Given the description of an element on the screen output the (x, y) to click on. 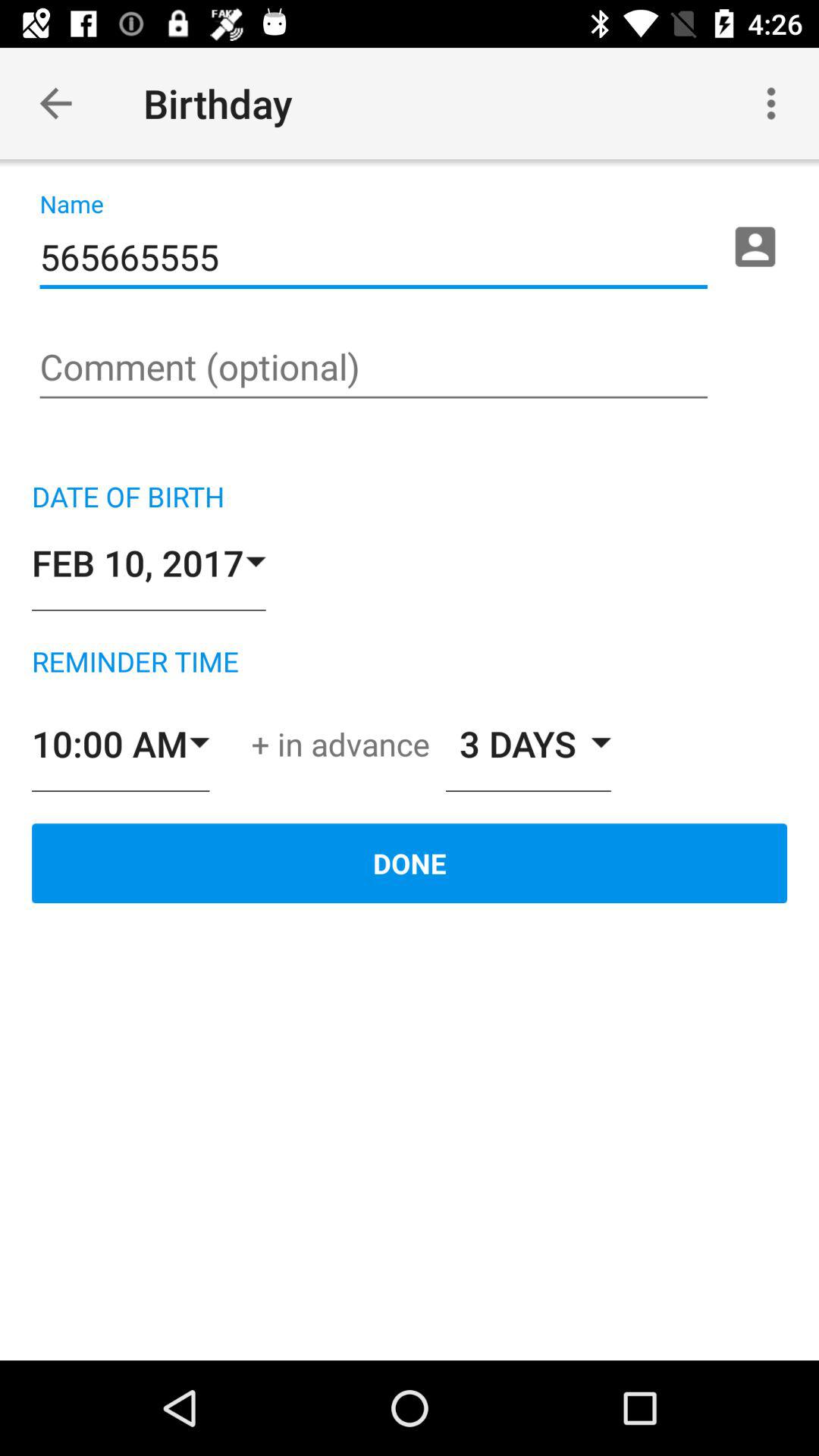
comment page (373, 369)
